Given the description of an element on the screen output the (x, y) to click on. 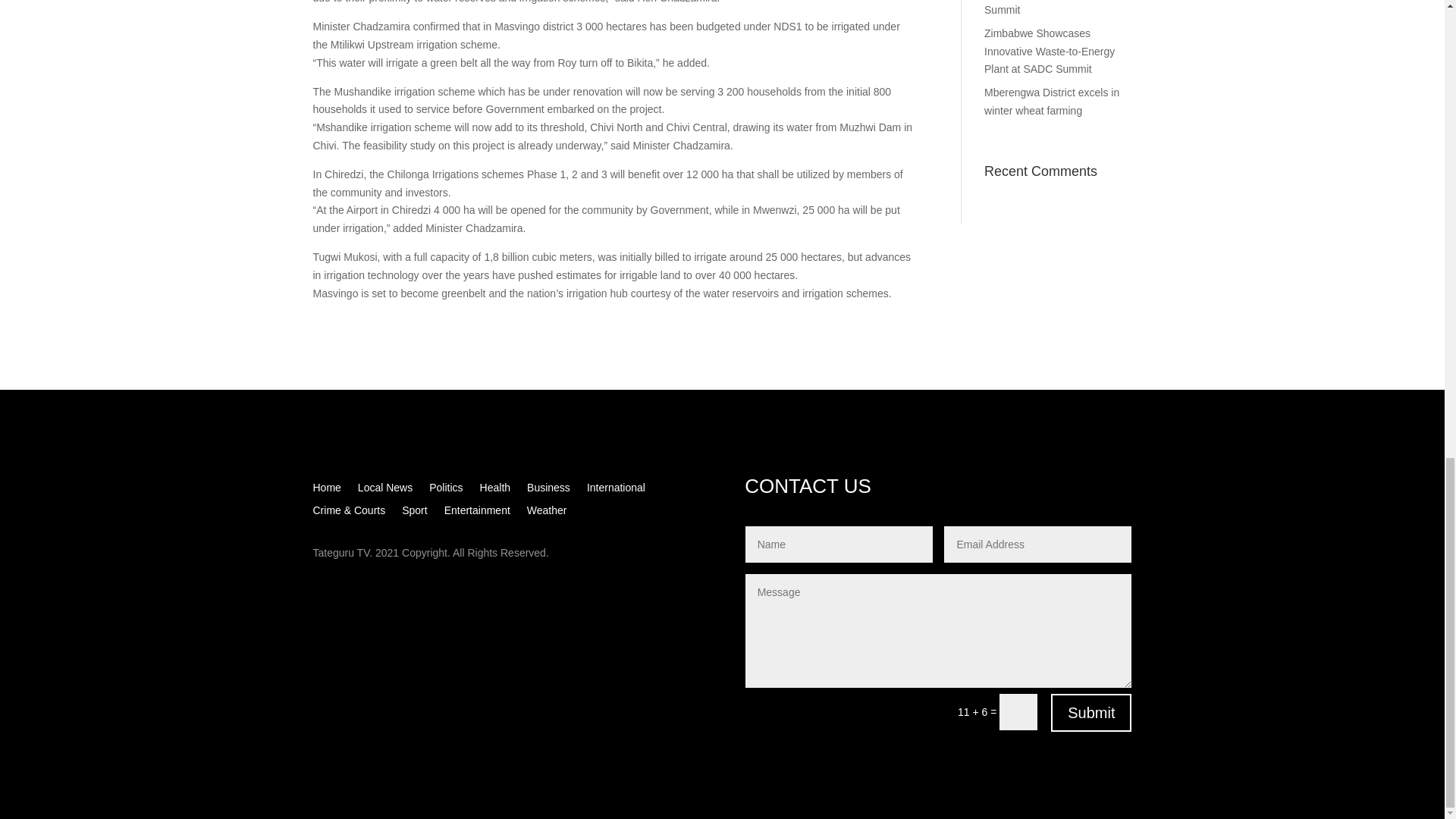
Local News (385, 490)
Mberengwa District excels in winter wheat farming (1051, 101)
Politics (446, 490)
Home (326, 490)
President in China for Focac Summit (1051, 7)
